Given the description of an element on the screen output the (x, y) to click on. 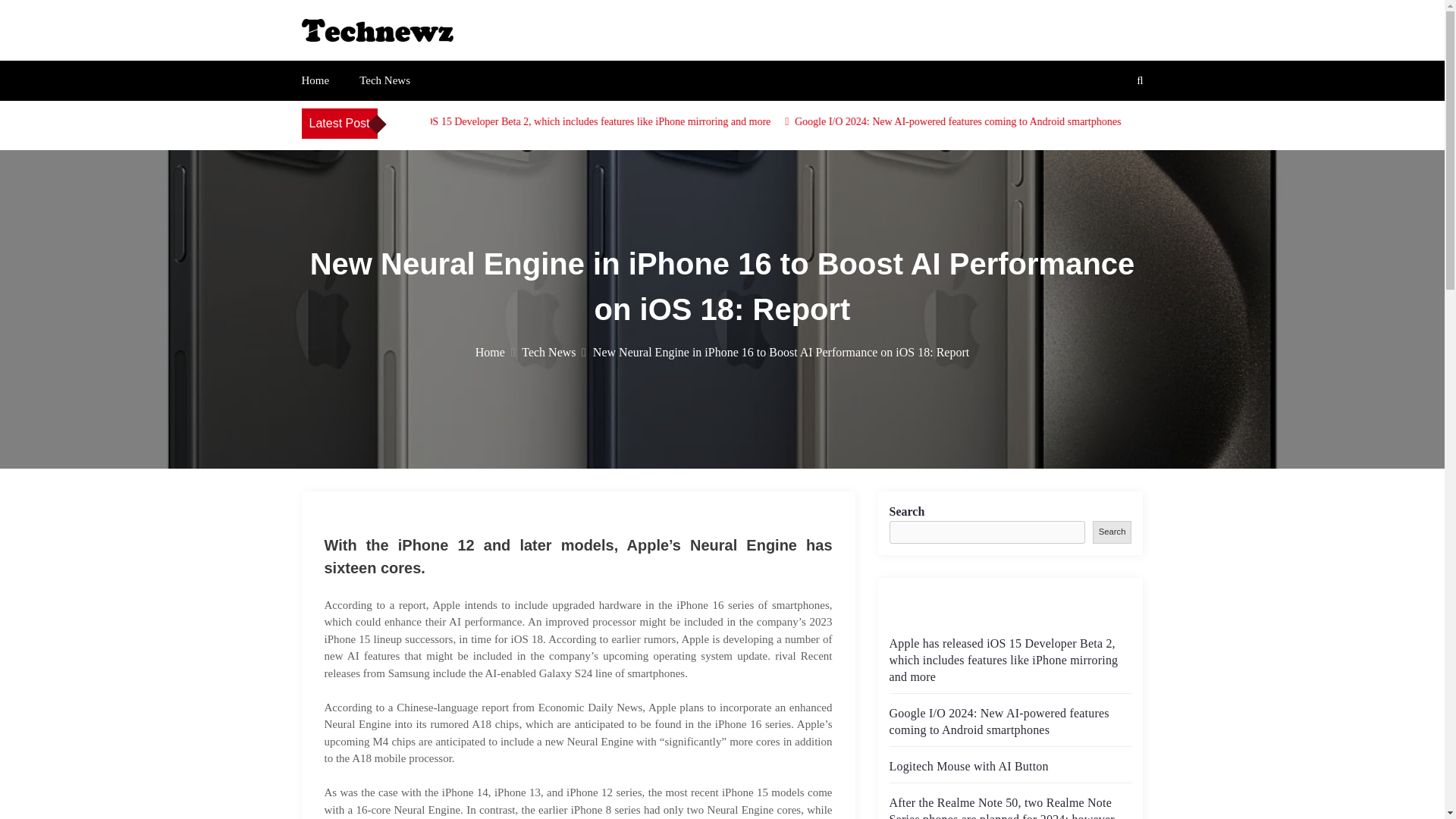
Logitech Mouse with AI Button (968, 766)
Home (495, 351)
Tech News (384, 80)
Tech News (553, 351)
Home (315, 80)
Search (1112, 532)
Tech Newz (359, 58)
